Given the description of an element on the screen output the (x, y) to click on. 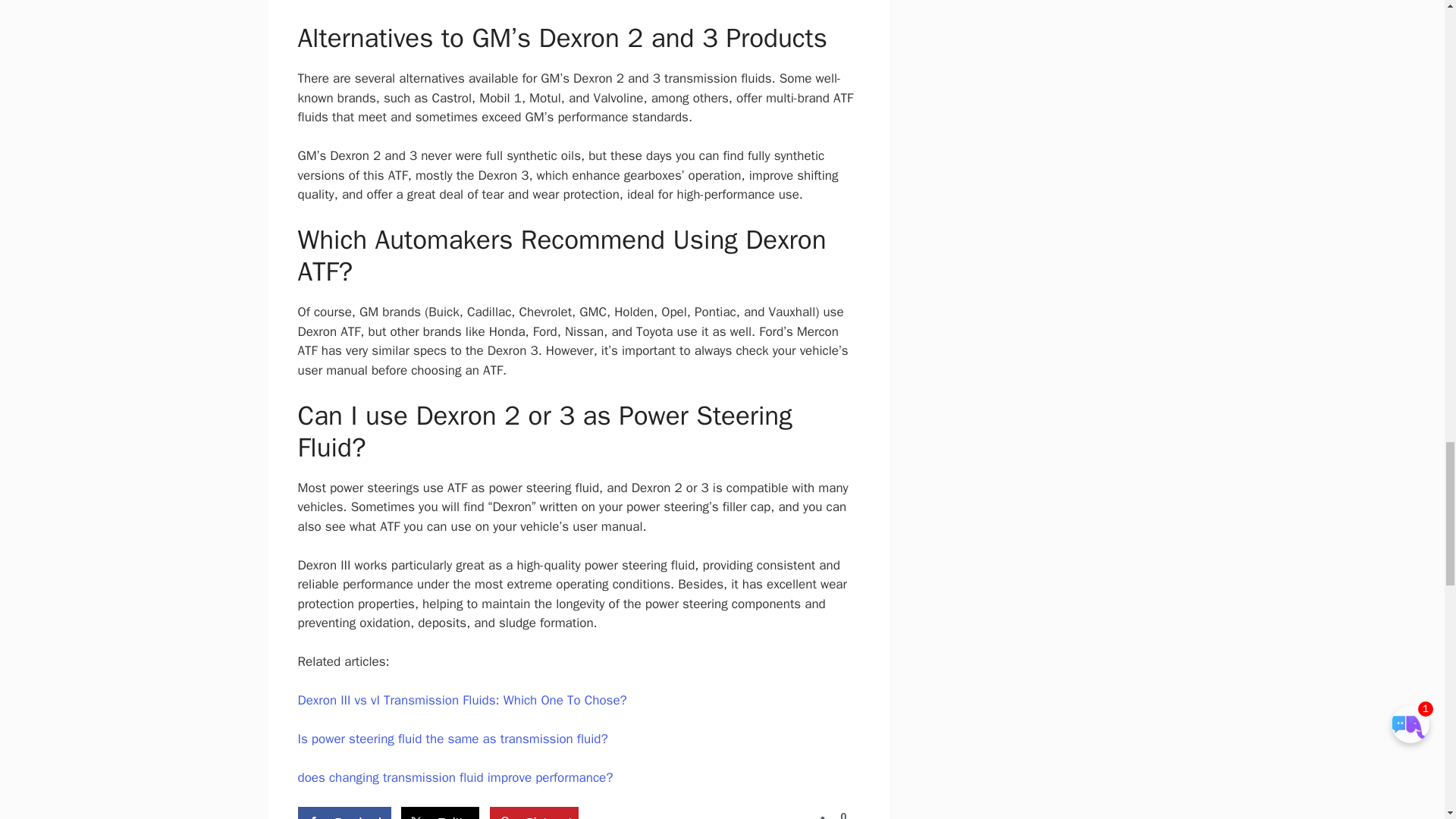
Is power steering fluid the same as transmission fluid? (452, 738)
Dexron III vs vI Transmission Fluids: Which One To Chose? (461, 700)
Twitter (440, 812)
Share on Facebook (343, 812)
Facebook (343, 812)
does changing transmission fluid improve performance? (454, 777)
Pinterest (534, 812)
